Given the description of an element on the screen output the (x, y) to click on. 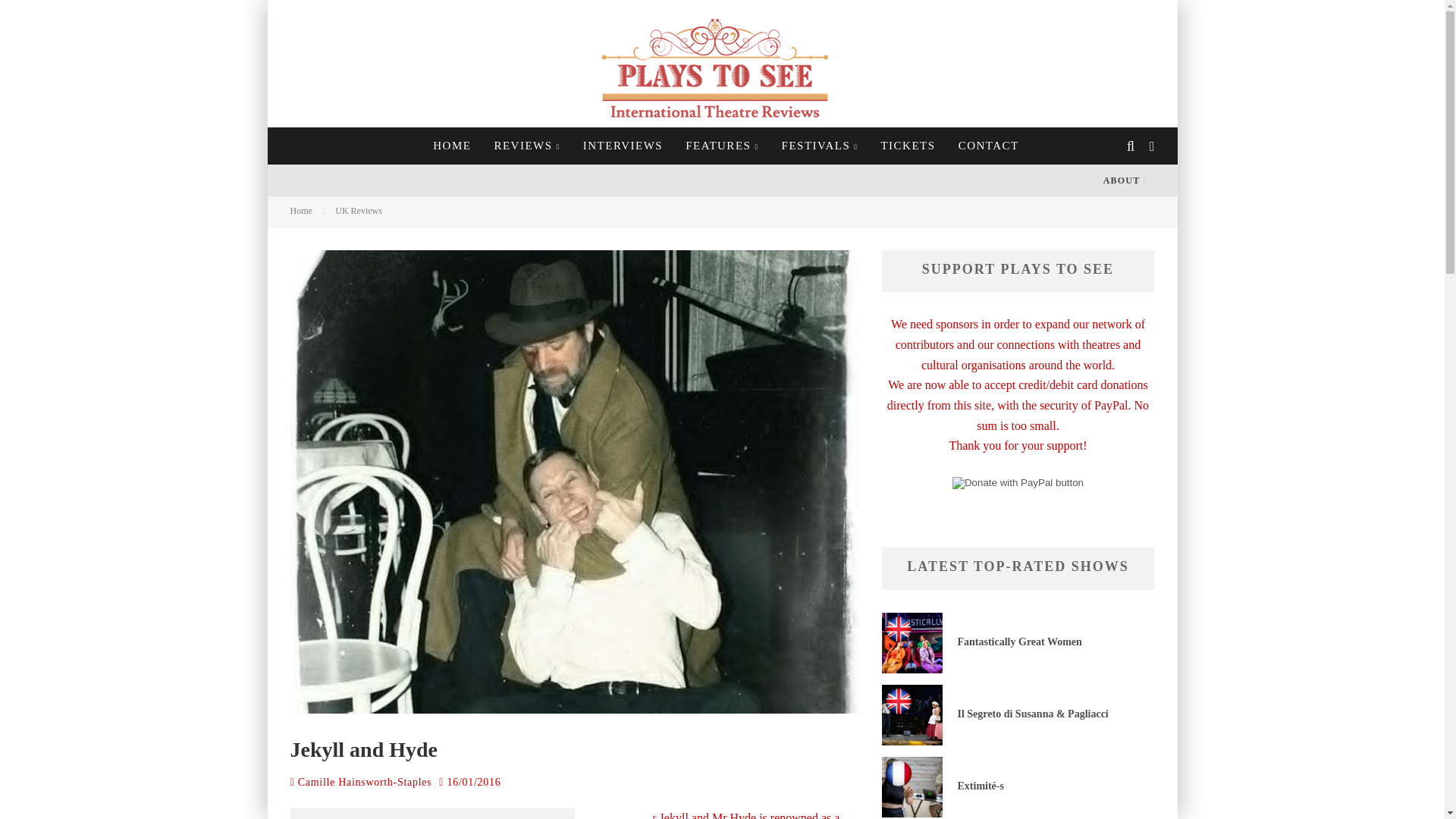
REVIEWS (525, 145)
HOME (451, 145)
PayPal - The safer, easier way to pay online! (1017, 481)
